Given the description of an element on the screen output the (x, y) to click on. 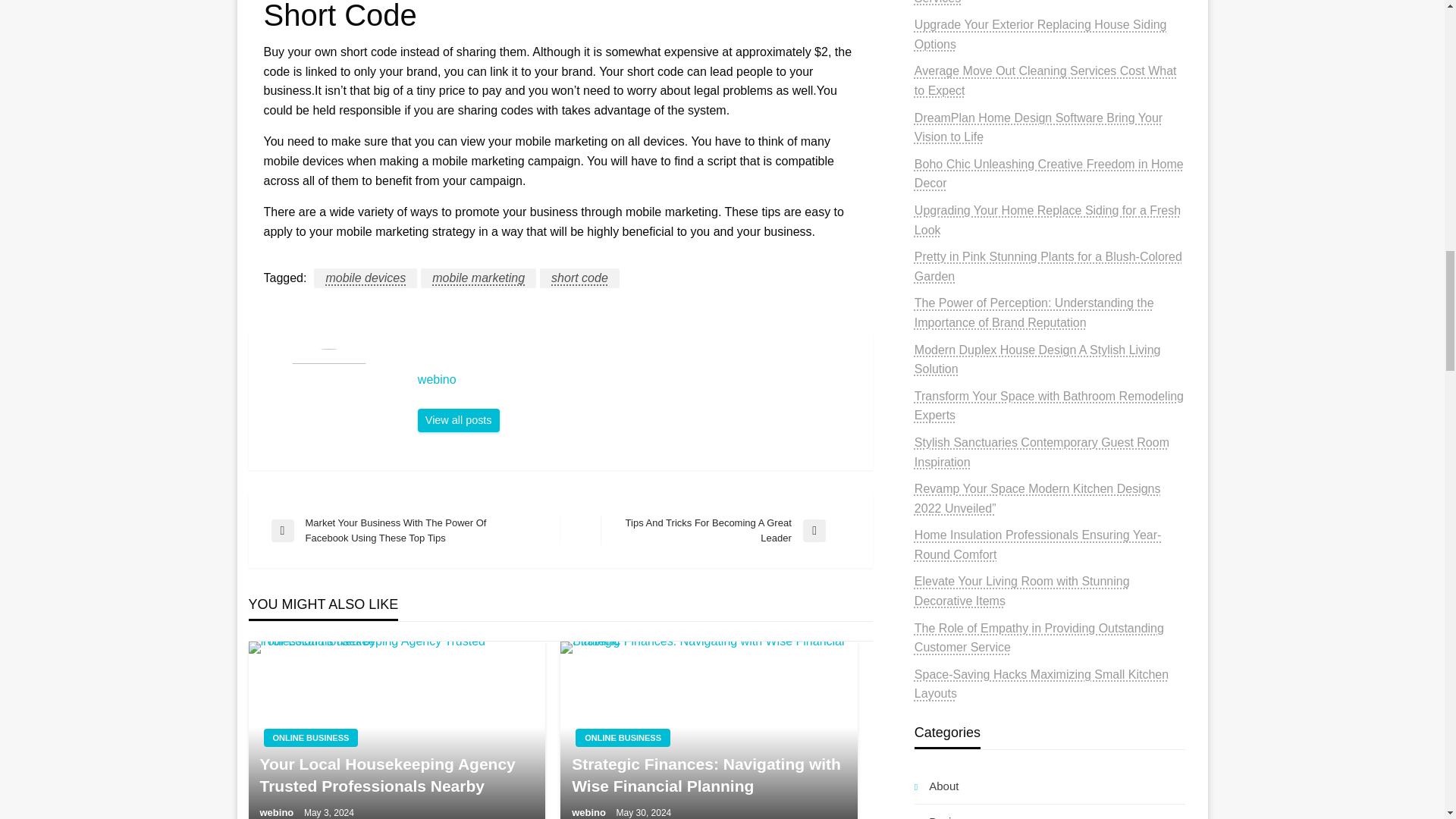
Your Local Housekeeping Agency Trusted Professionals Nearby (397, 730)
webino (458, 420)
Strategic Finances: Navigating with Wise Financial Planning (708, 730)
webino (637, 379)
